Given the description of an element on the screen output the (x, y) to click on. 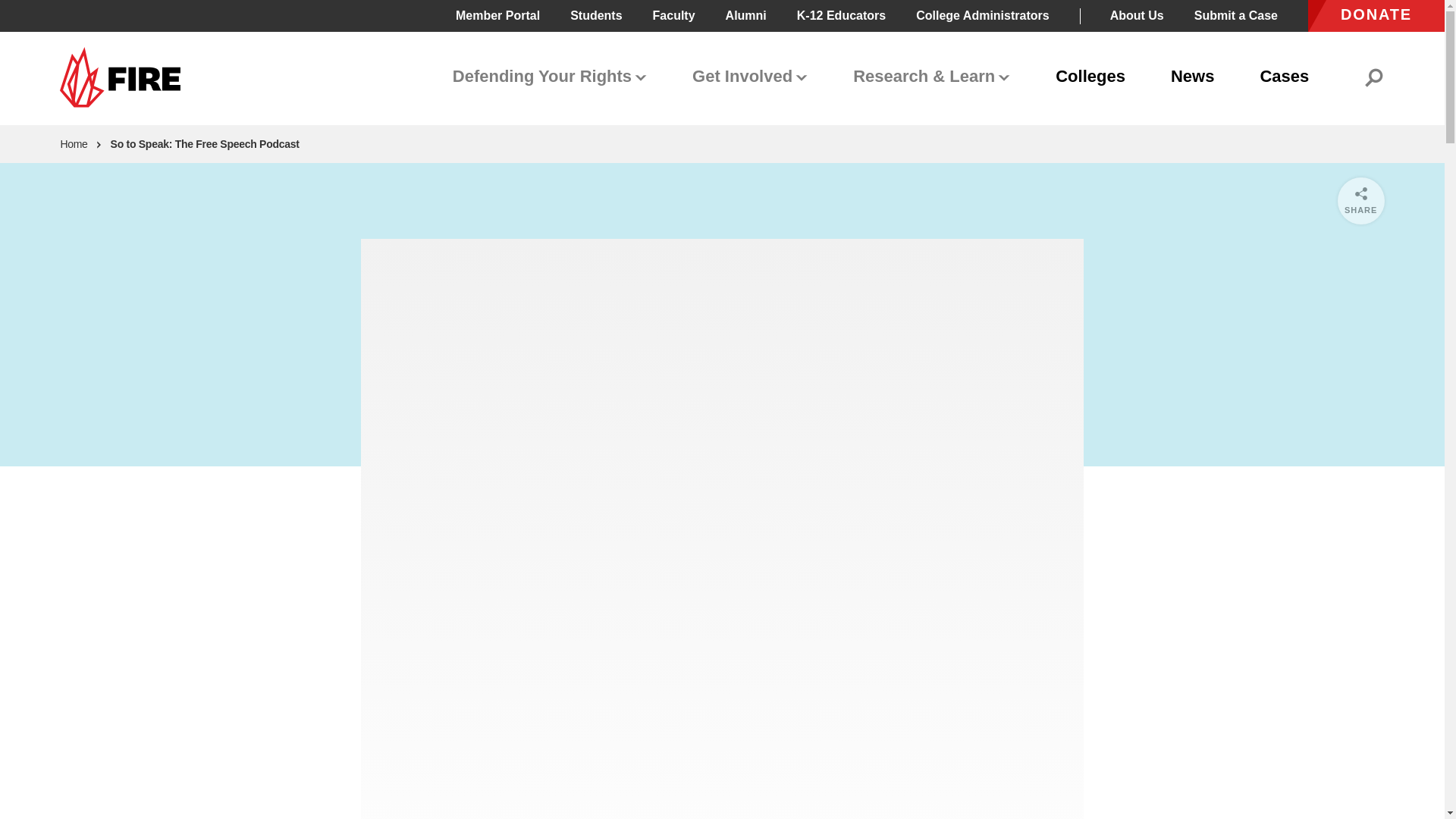
K-12 Educators (840, 15)
College Administrators (981, 15)
Submit a Case (1235, 15)
Faculty (673, 15)
About Us (1136, 15)
Students (595, 15)
Defending Your Rights (550, 77)
Alumni (746, 15)
Member Portal (497, 15)
